Given the description of an element on the screen output the (x, y) to click on. 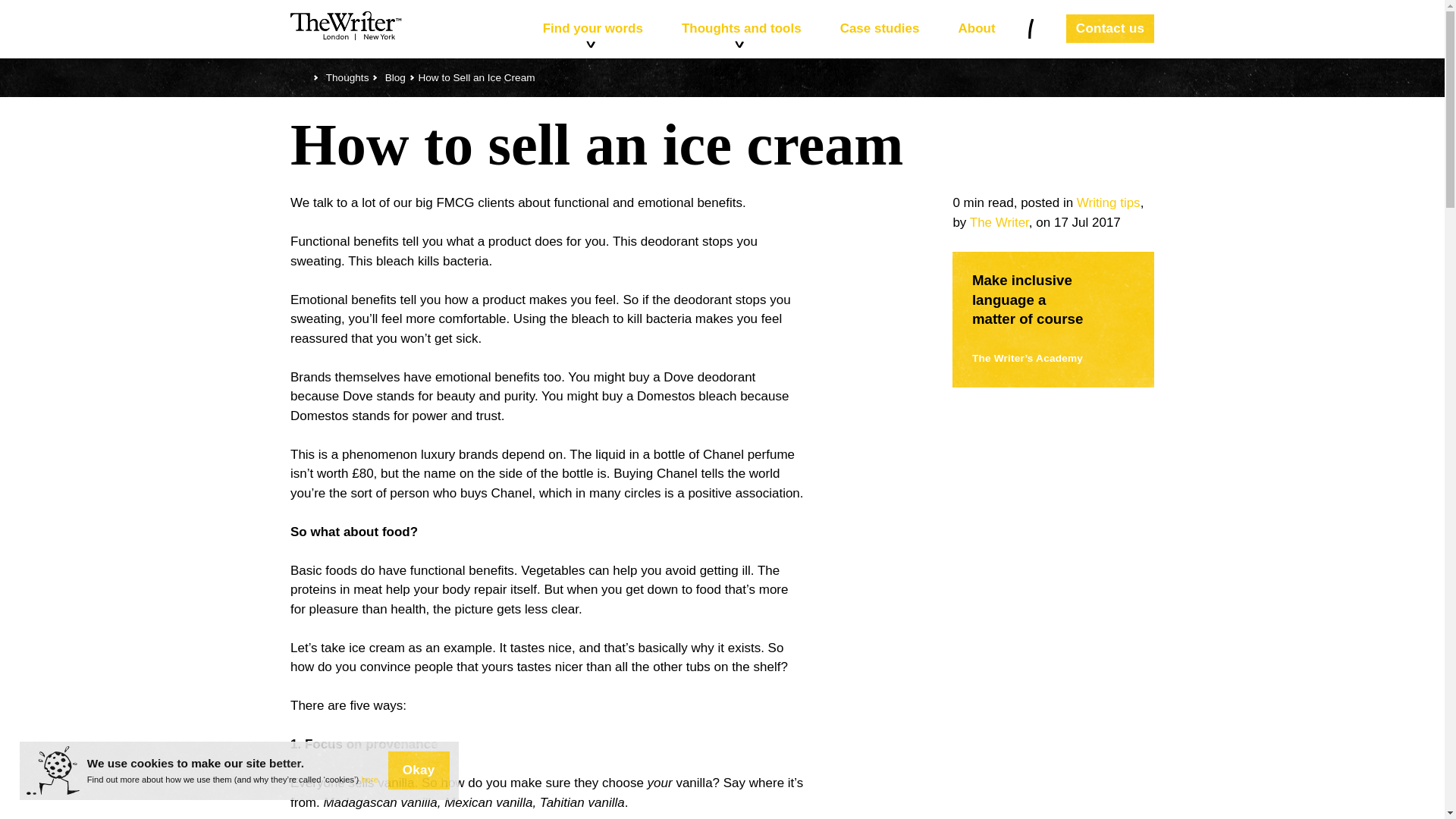
About (976, 28)
Writing tips (1108, 202)
Contact us (1109, 28)
Thoughts (347, 76)
Thoughts and tools (741, 28)
Case studies (880, 28)
Find your words (592, 28)
home (299, 76)
The Writer (999, 222)
thoughts (347, 76)
